Given the description of an element on the screen output the (x, y) to click on. 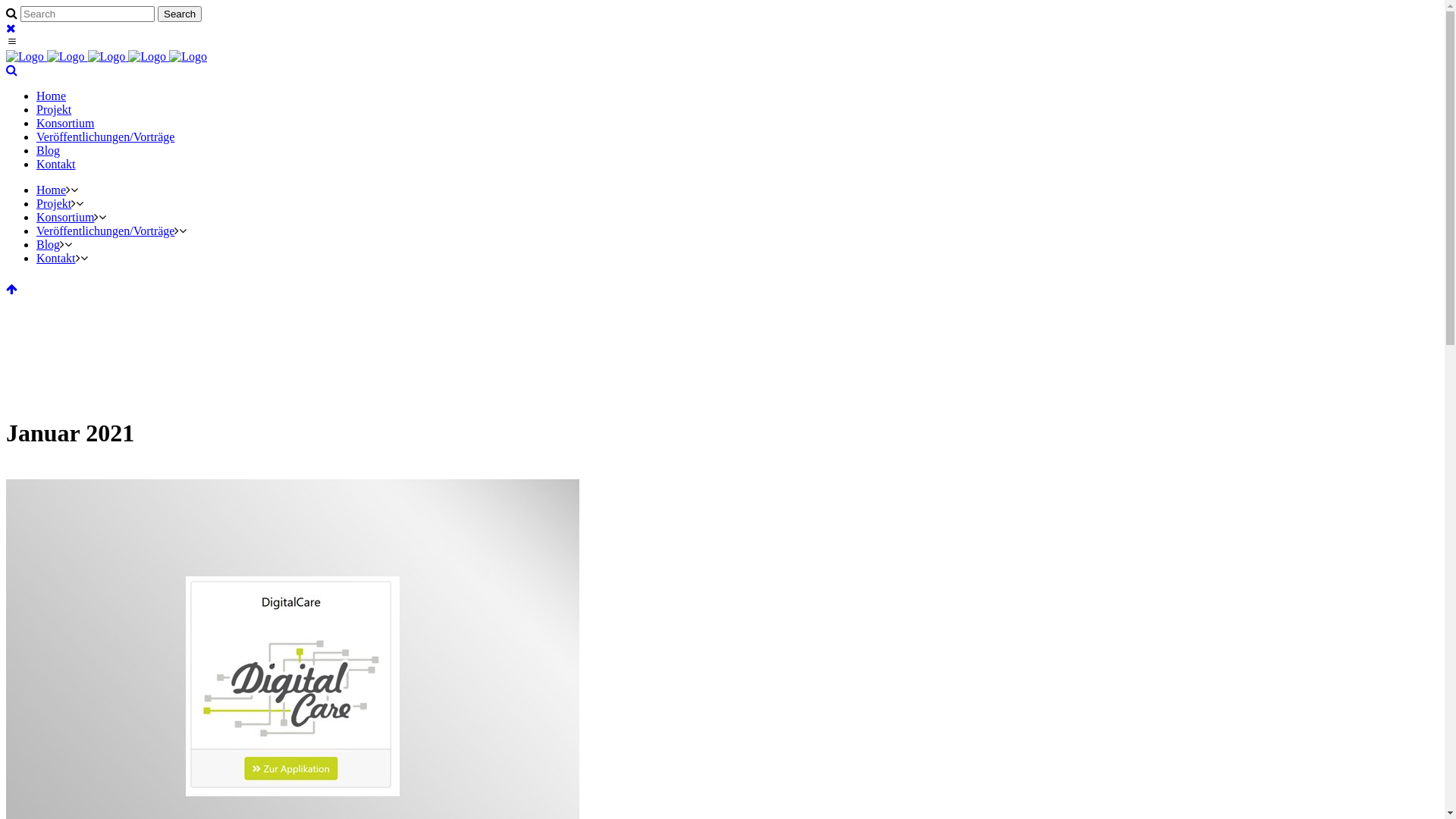
Kontakt Element type: text (55, 163)
Kontakt Element type: text (55, 257)
Konsortium Element type: text (65, 122)
Konsortium Element type: text (65, 216)
Blog Element type: text (47, 150)
Home Element type: text (50, 95)
Blog Element type: text (47, 244)
Projekt Element type: text (53, 109)
Search Element type: text (179, 13)
Projekt Element type: text (53, 203)
Home Element type: text (50, 189)
